Given the description of an element on the screen output the (x, y) to click on. 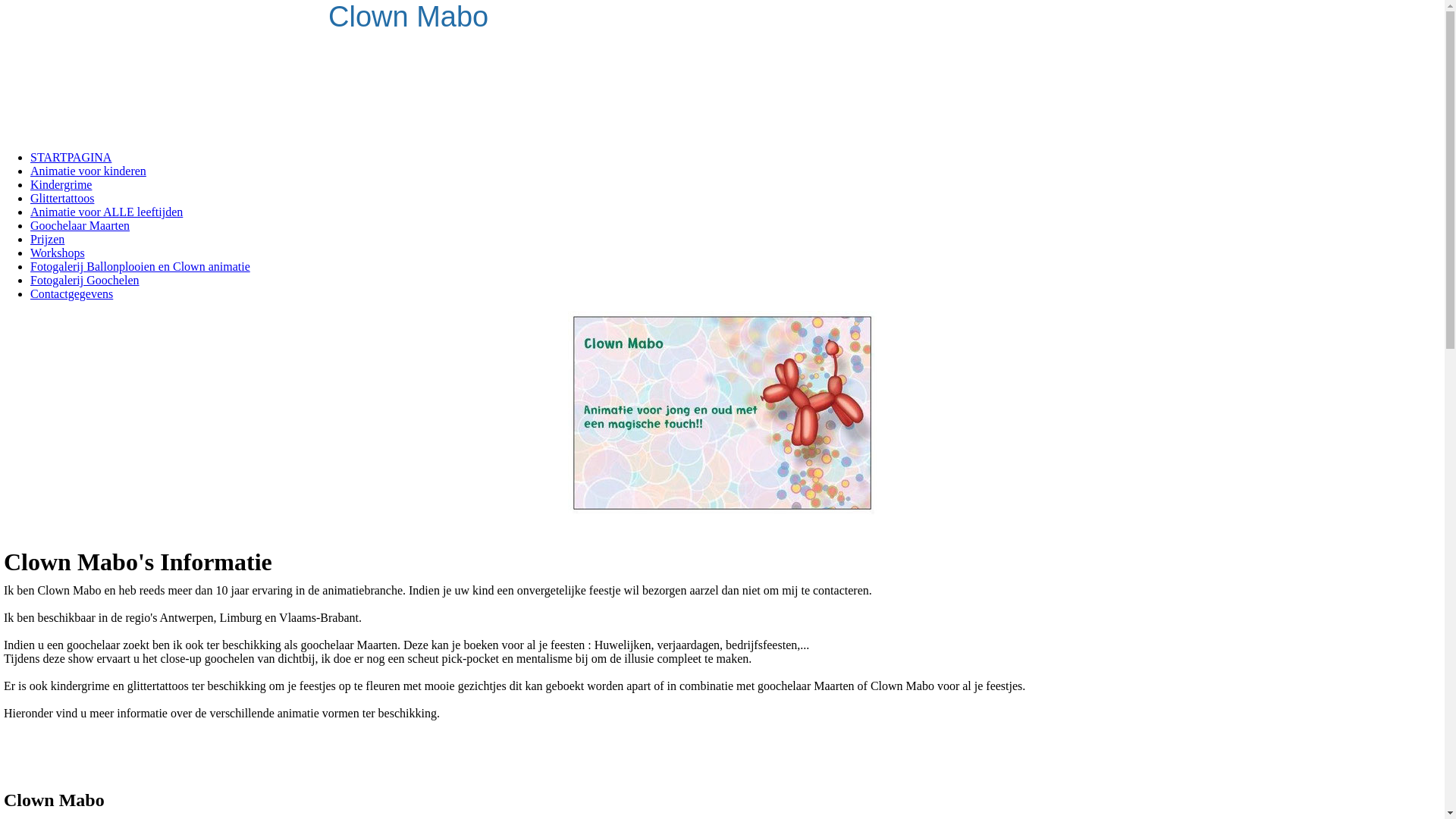
Workshops Element type: text (57, 252)
Kindergrime Element type: text (60, 184)
Animatie voor kinderen Element type: text (88, 170)
Contactgegevens Element type: text (71, 293)
Animatie voor ALLE leeftijden Element type: text (106, 211)
Goochelaar Maarten Element type: text (79, 225)
Fotogalerij Ballonplooien en Clown animatie Element type: text (140, 266)
STARTPAGINA Element type: text (70, 156)
Prijzen Element type: text (47, 238)
Fotogalerij Goochelen Element type: text (84, 279)
Glittertattoos Element type: text (62, 197)
